Given the description of an element on the screen output the (x, y) to click on. 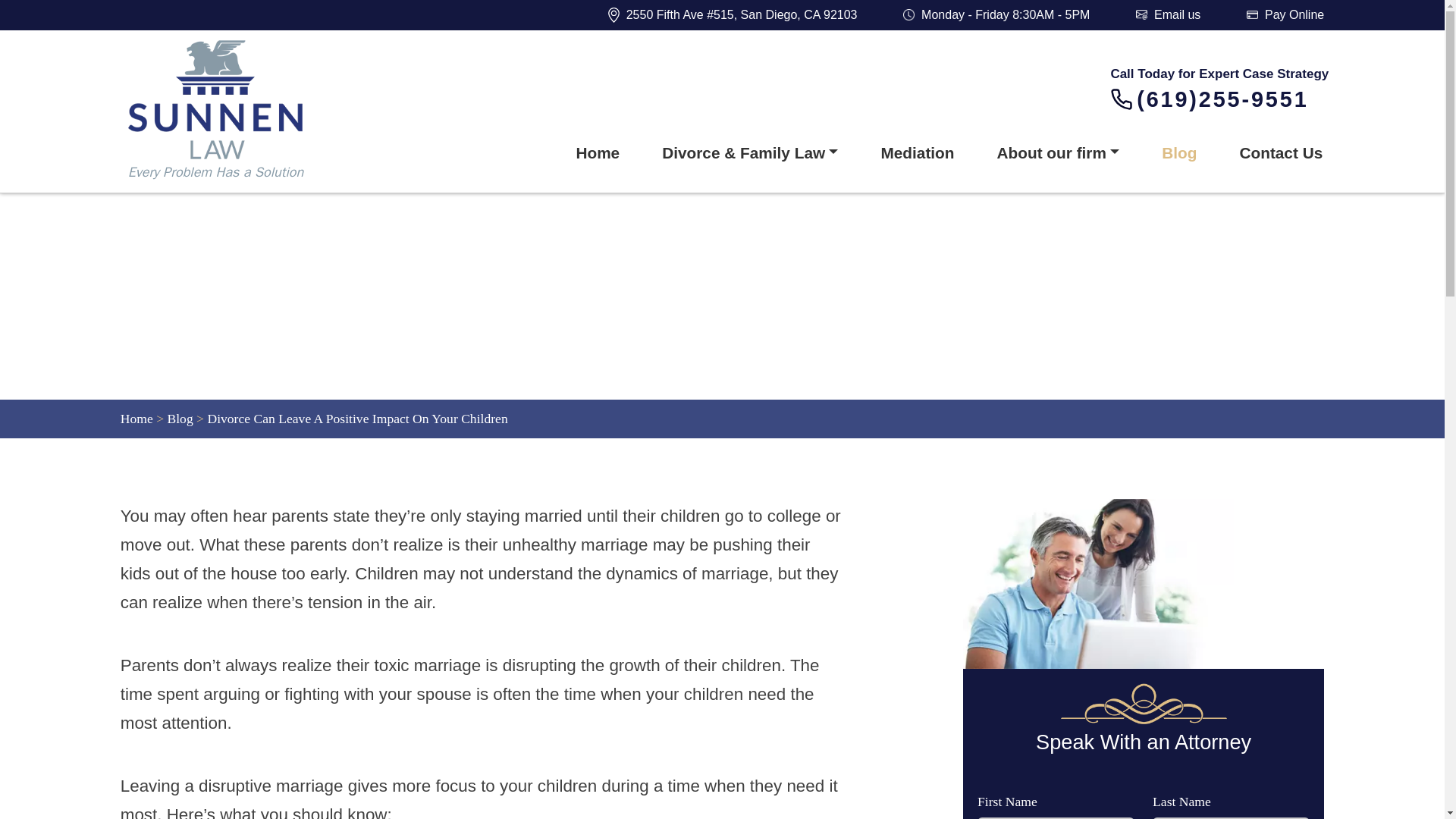
Home (136, 418)
Mediation (917, 152)
Home (597, 152)
Blog (179, 418)
Pay Online (1284, 14)
Every Problem Has a Solution (247, 111)
Email us (1167, 14)
Contact Us (1280, 152)
About our firm (1058, 152)
Blog (1179, 152)
